Given the description of an element on the screen output the (x, y) to click on. 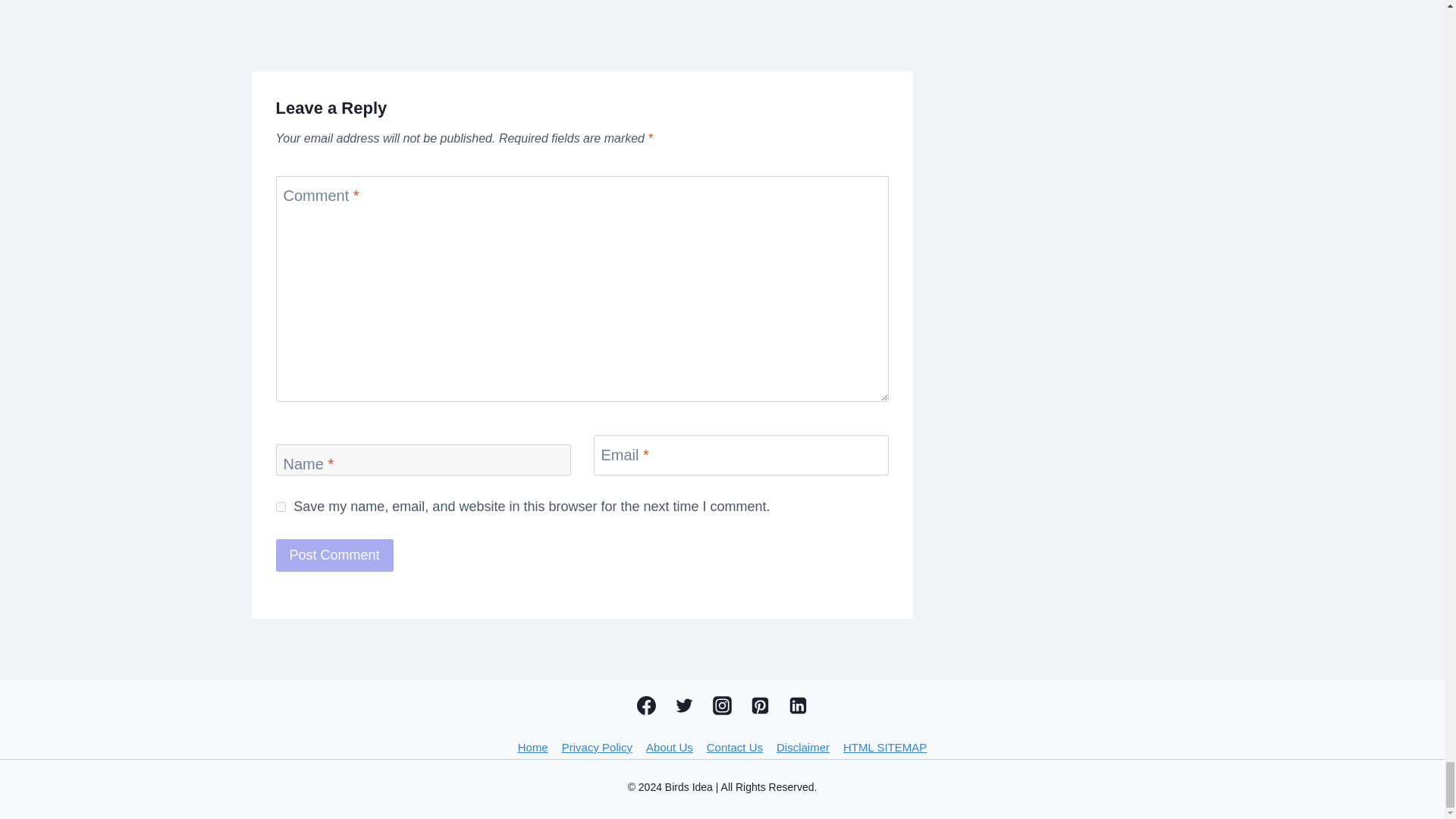
Post Comment (334, 554)
yes (280, 506)
